Given the description of an element on the screen output the (x, y) to click on. 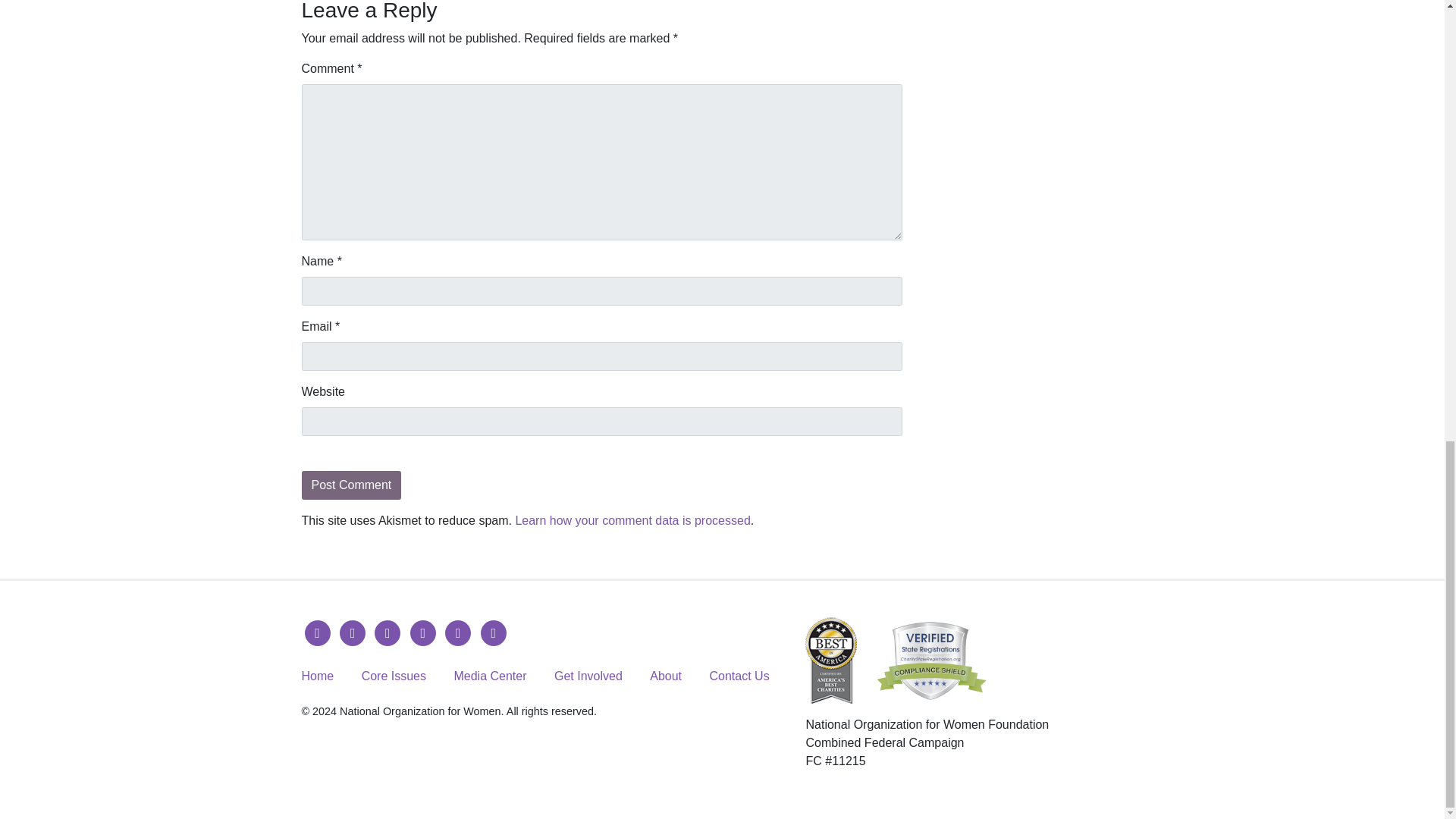
Learn how your comment data is processed (632, 520)
Core Issues (393, 675)
spotify (493, 631)
youtube (422, 631)
Post Comment (351, 484)
Post Comment (351, 484)
Home (317, 675)
instagram (387, 631)
x (352, 631)
Media Center (488, 675)
facebook (317, 631)
flickr (457, 631)
